Given the description of an element on the screen output the (x, y) to click on. 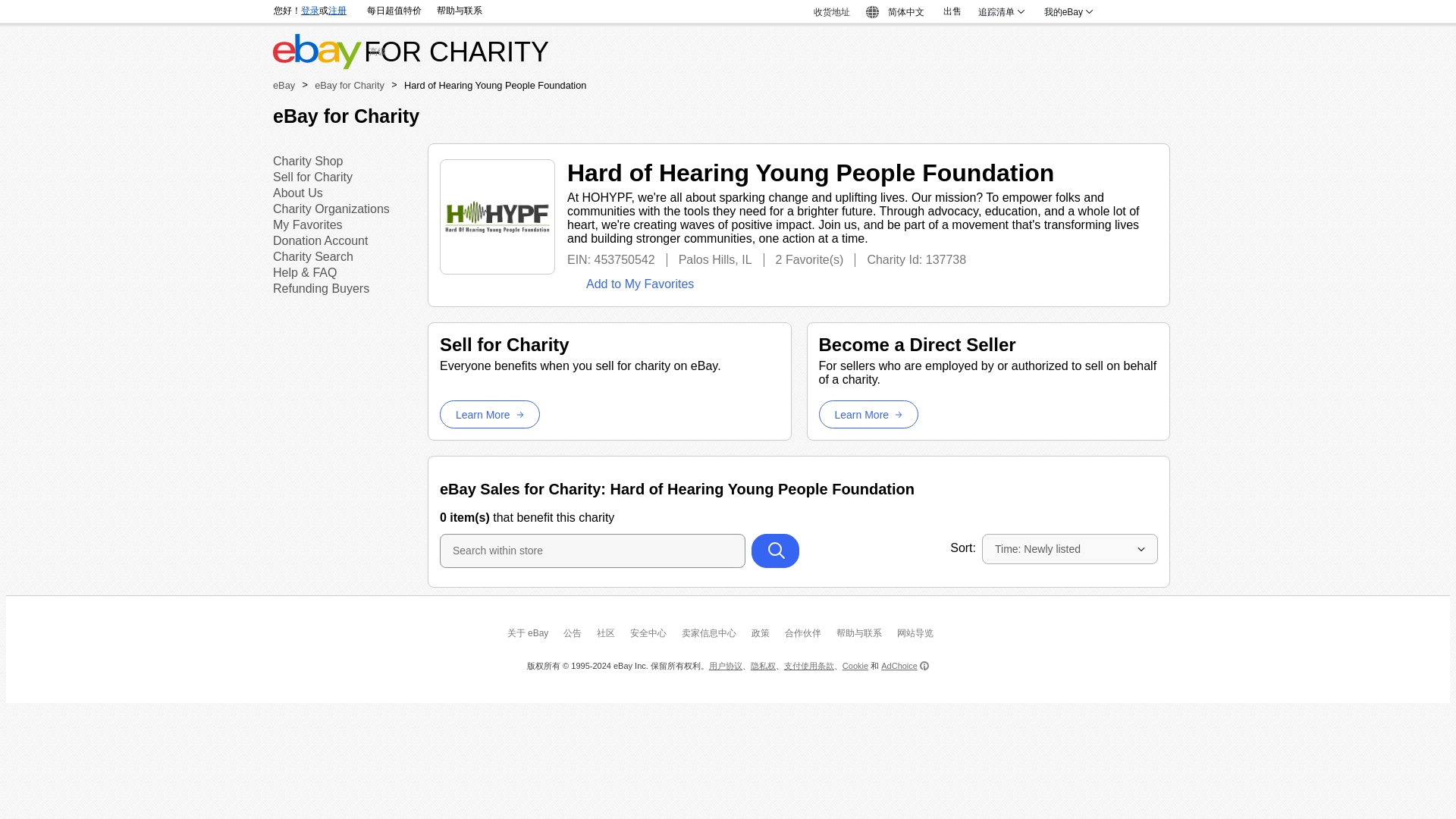
eBay for Charity (349, 84)
eBay (284, 84)
Notifications (1122, 11)
Charity Organizations (331, 208)
About Us (298, 192)
Sell for Charity (312, 176)
Charity Shop (308, 160)
Search within store (592, 550)
